Given the description of an element on the screen output the (x, y) to click on. 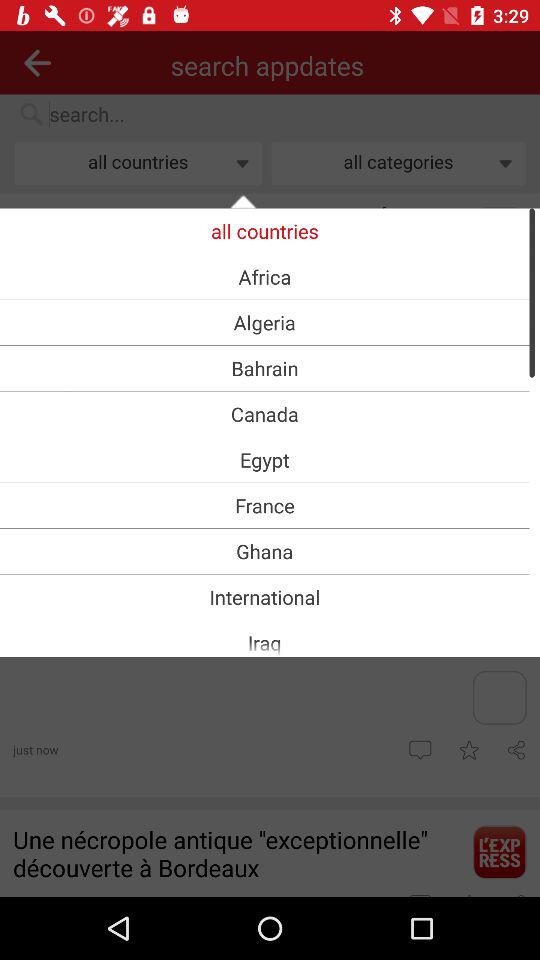
turn off icon above international item (264, 551)
